Given the description of an element on the screen output the (x, y) to click on. 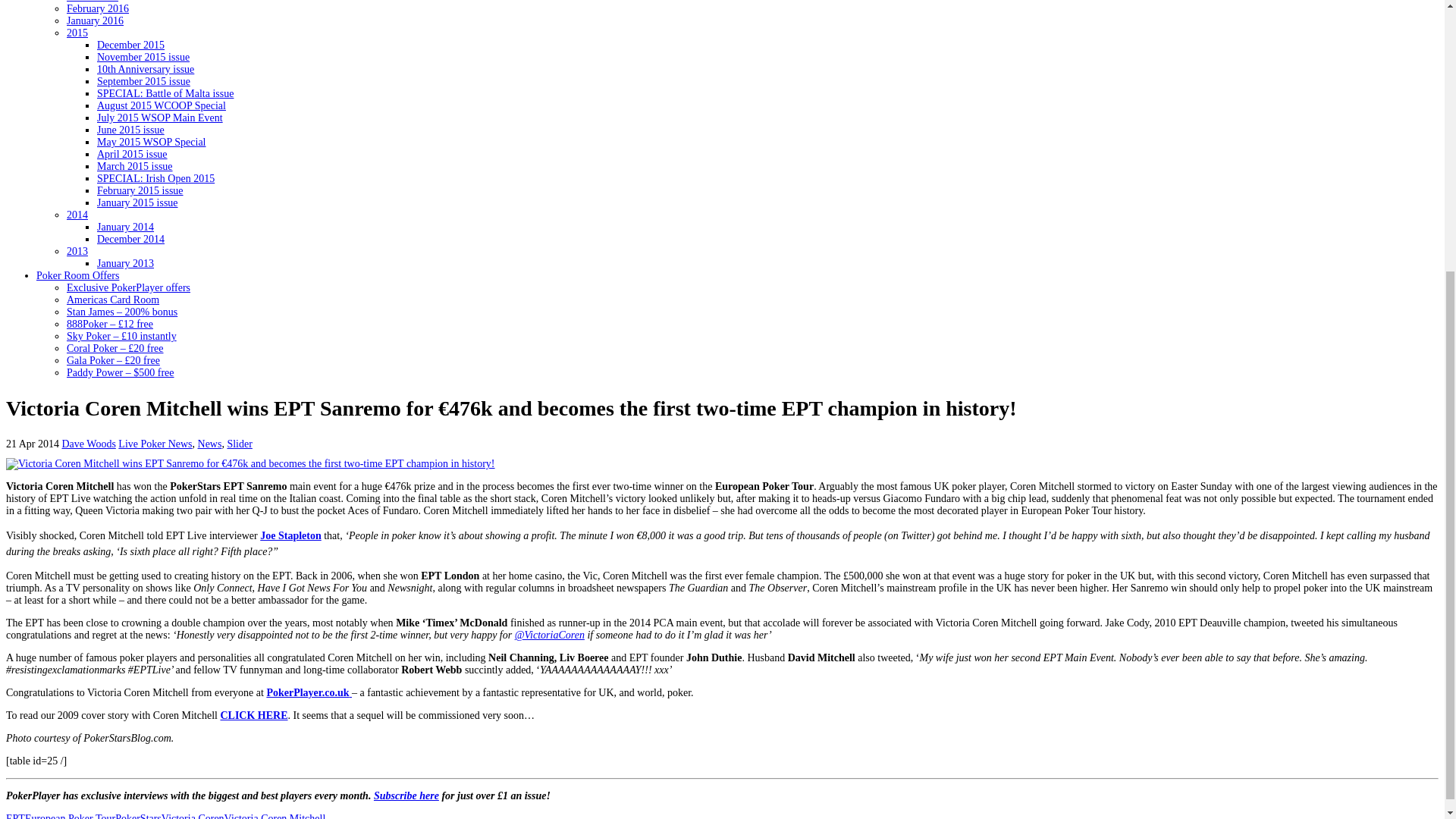
SPECIAL: Battle of Malta issue (164, 93)
November 2015 issue (143, 57)
2015 (76, 32)
September 2015 issue (143, 81)
August 2015 WCOOP Special (161, 105)
January 2016 (94, 20)
Posts by Dave Woods (89, 443)
10th Anniversary issue (145, 69)
February 2016 (97, 8)
March 2016 (91, 1)
December 2015 (130, 44)
